Given the description of an element on the screen output the (x, y) to click on. 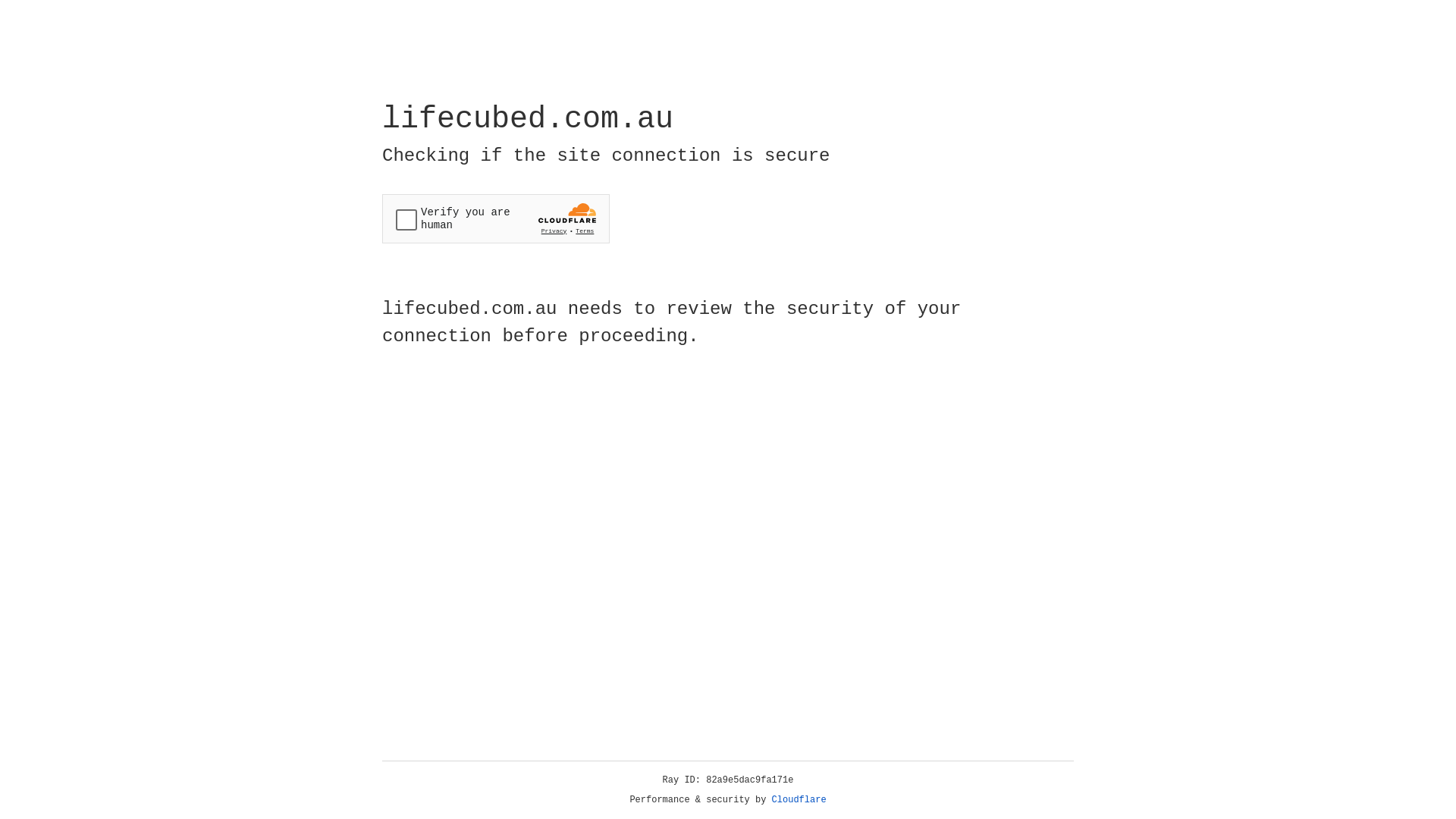
Cloudflare Element type: text (798, 799)
Widget containing a Cloudflare security challenge Element type: hover (495, 218)
